Given the description of an element on the screen output the (x, y) to click on. 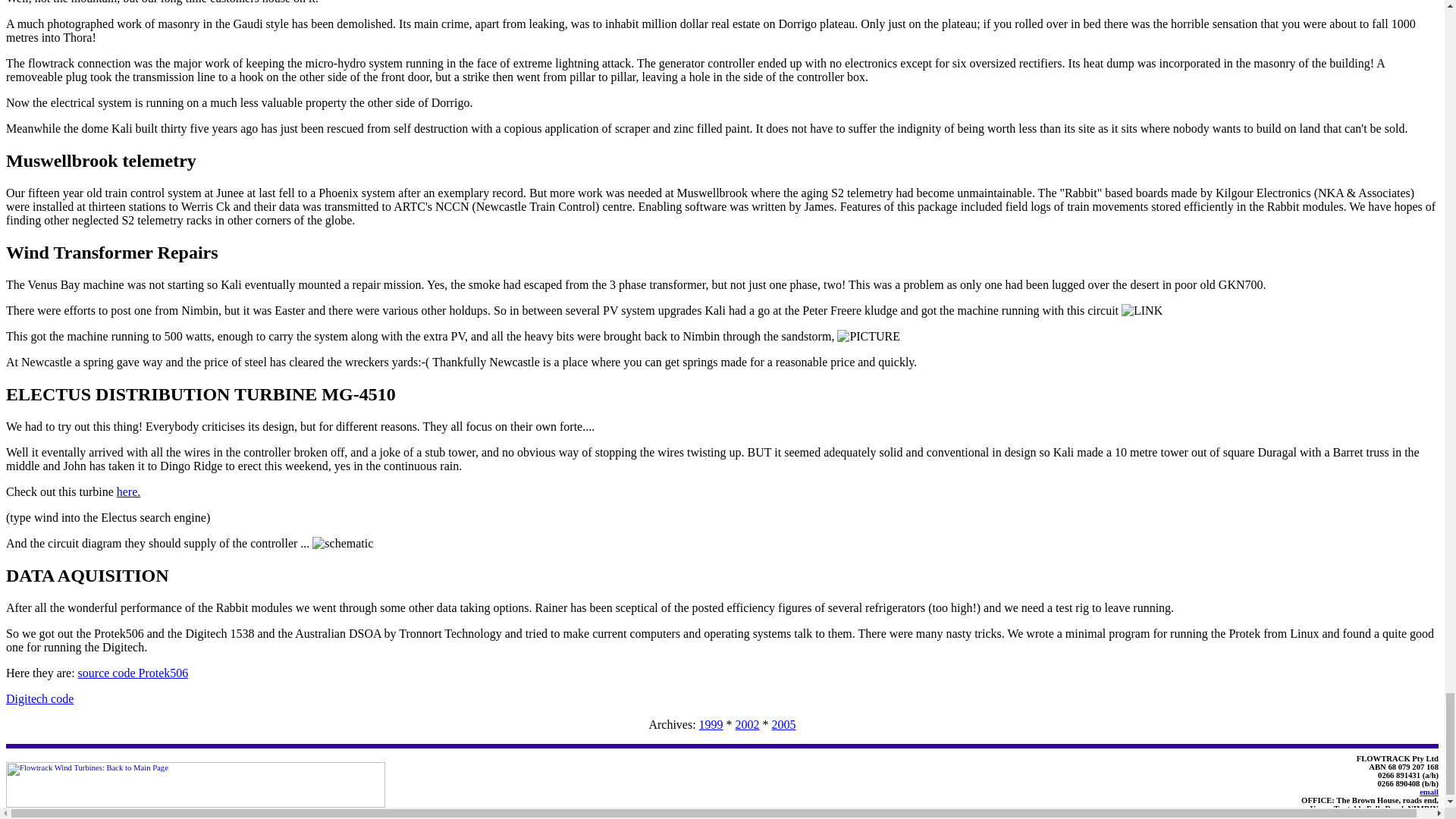
source code Protek506 (133, 672)
2002 (747, 724)
here. (128, 491)
2005 (783, 724)
1999 (710, 724)
Flowtrack Wind Turbines: Back to Main Page (195, 784)
Digitech code (39, 698)
email (1428, 791)
